Given the description of an element on the screen output the (x, y) to click on. 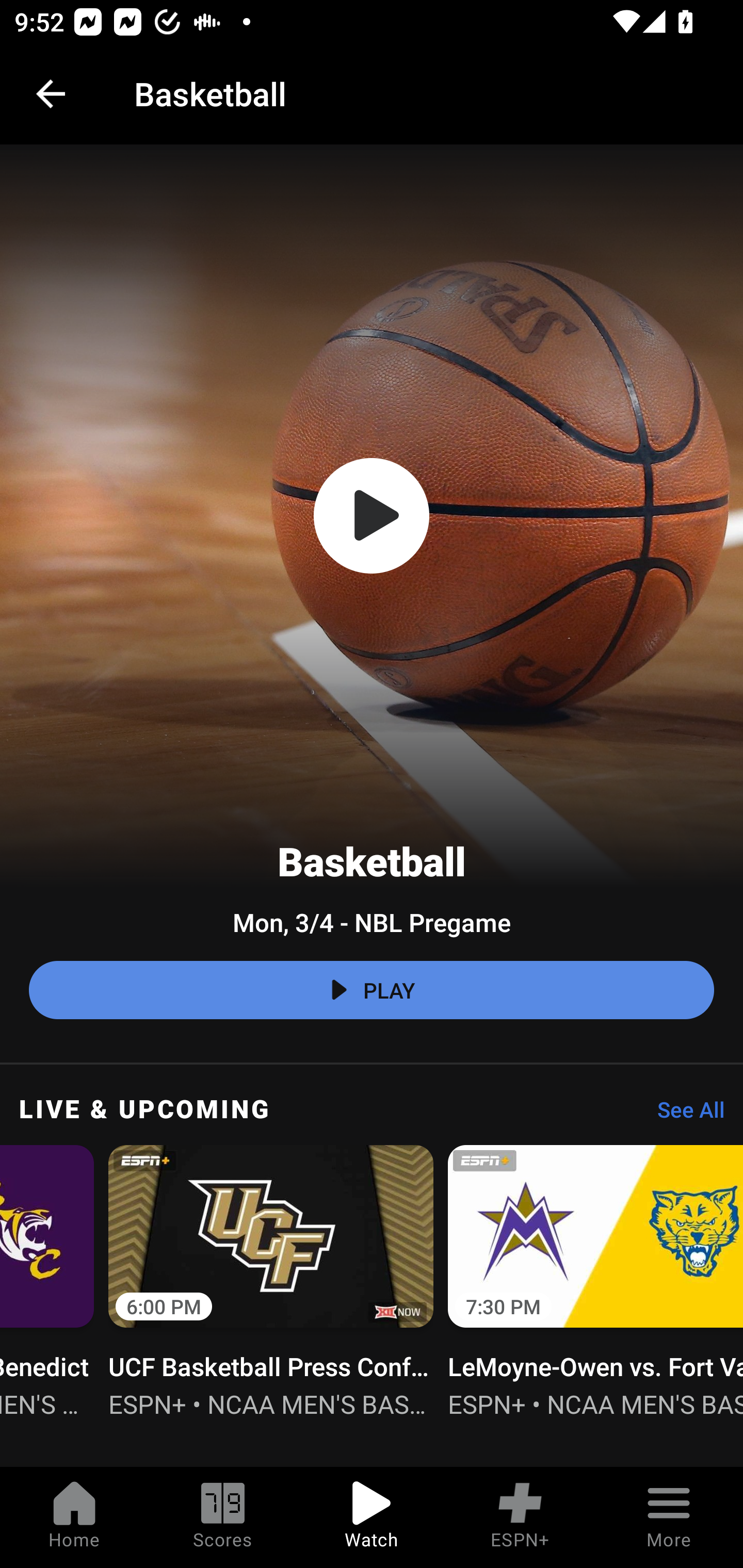
 (371, 515)
PLAY (371, 990)
See All (683, 1114)
Home (74, 1517)
Scores (222, 1517)
ESPN+ (519, 1517)
More (668, 1517)
